Given the description of an element on the screen output the (x, y) to click on. 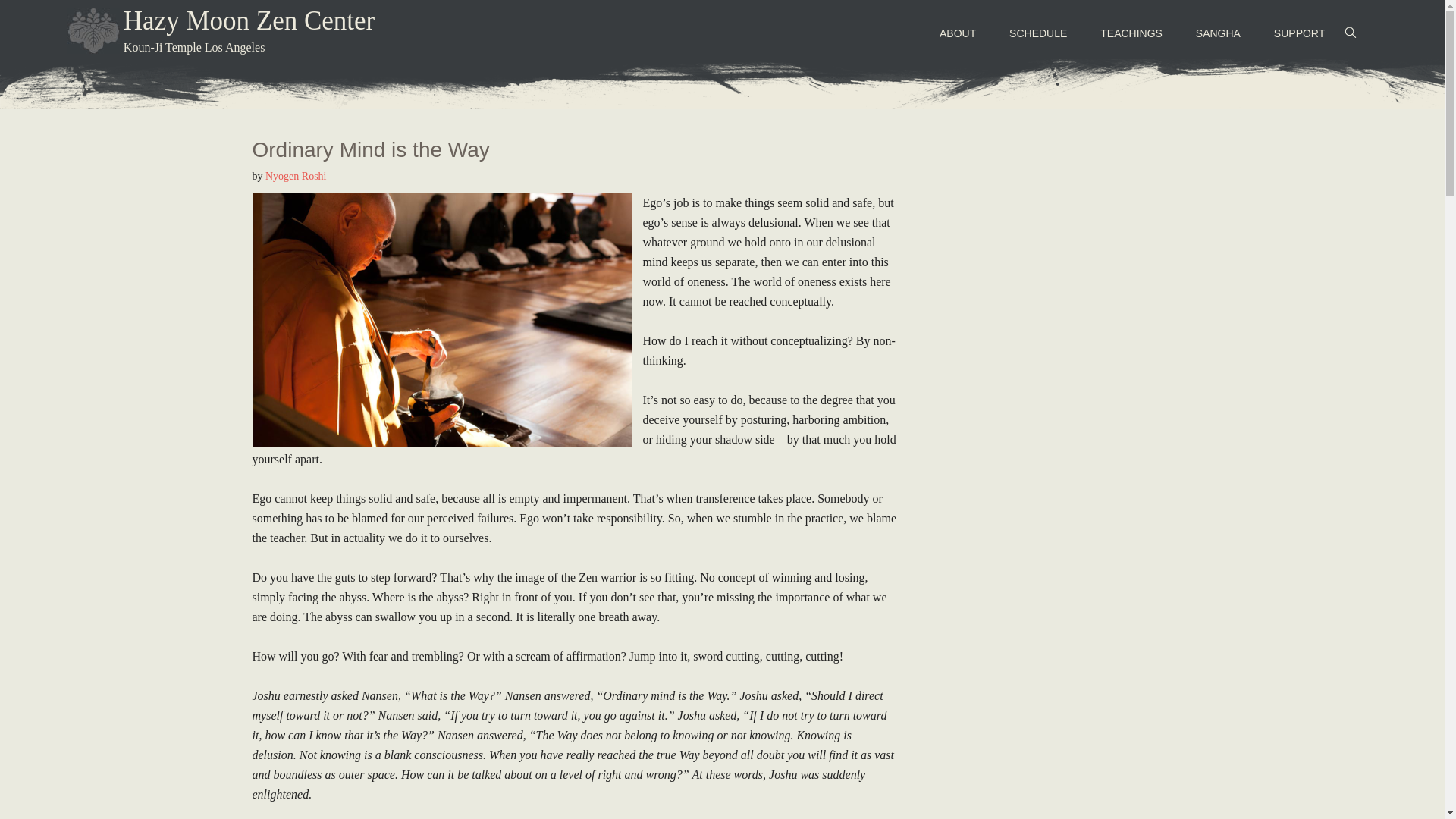
TEACHINGS (1130, 33)
Nyogen Roshi (295, 175)
Hazy Moon Zen Center (248, 20)
SUPPORT (1299, 33)
SANGHA (1217, 33)
ABOUT (957, 33)
SCHEDULE (1037, 33)
